Given the description of an element on the screen output the (x, y) to click on. 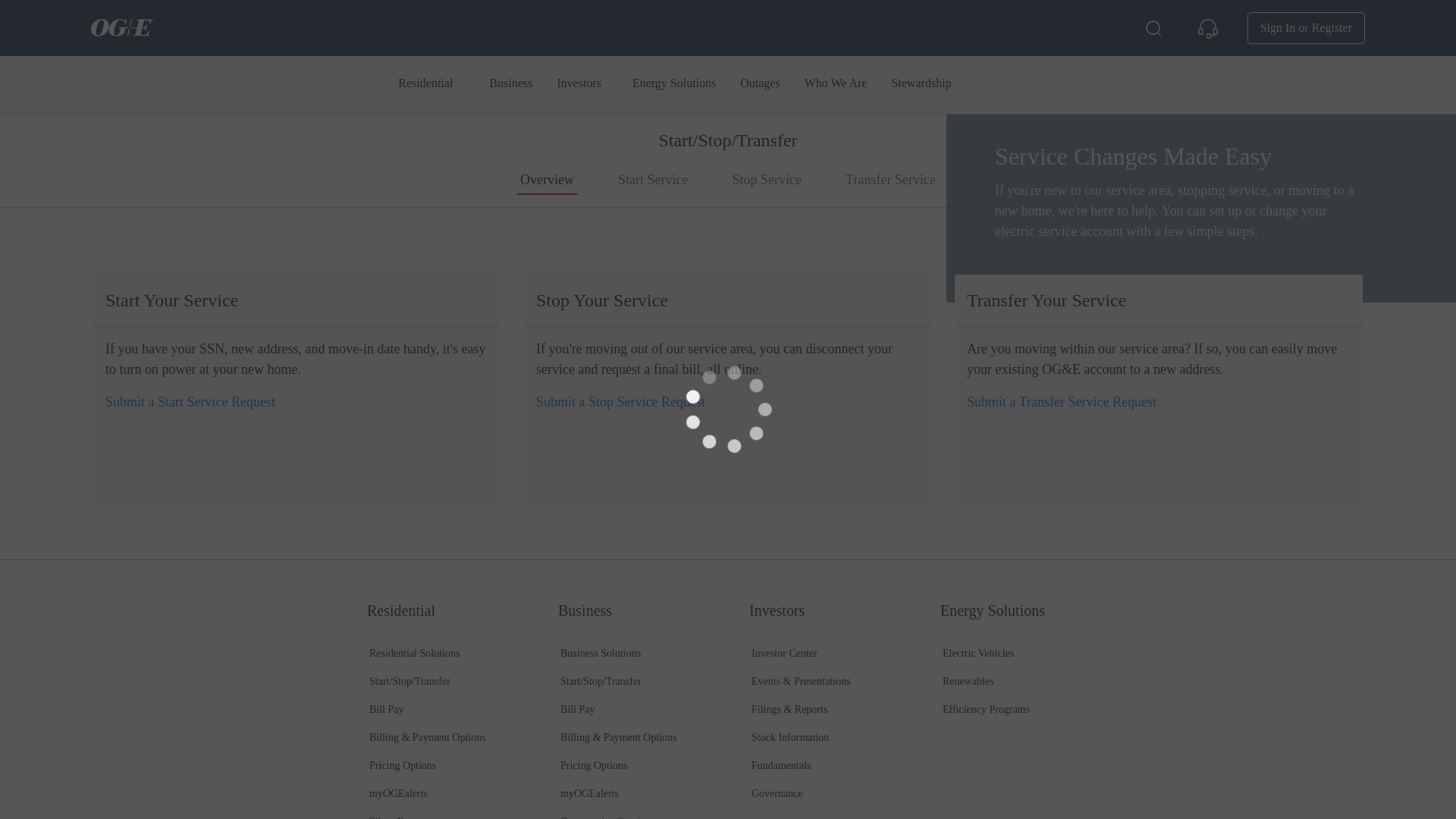
Start Service (189, 401)
Investors (578, 84)
Who We Are (835, 84)
Business (510, 84)
Outages (760, 84)
Sign In or Register (1306, 28)
Energy Solutions (674, 84)
Transfer Service (1061, 401)
Stop Service (619, 401)
Residential (424, 84)
